Given the description of an element on the screen output the (x, y) to click on. 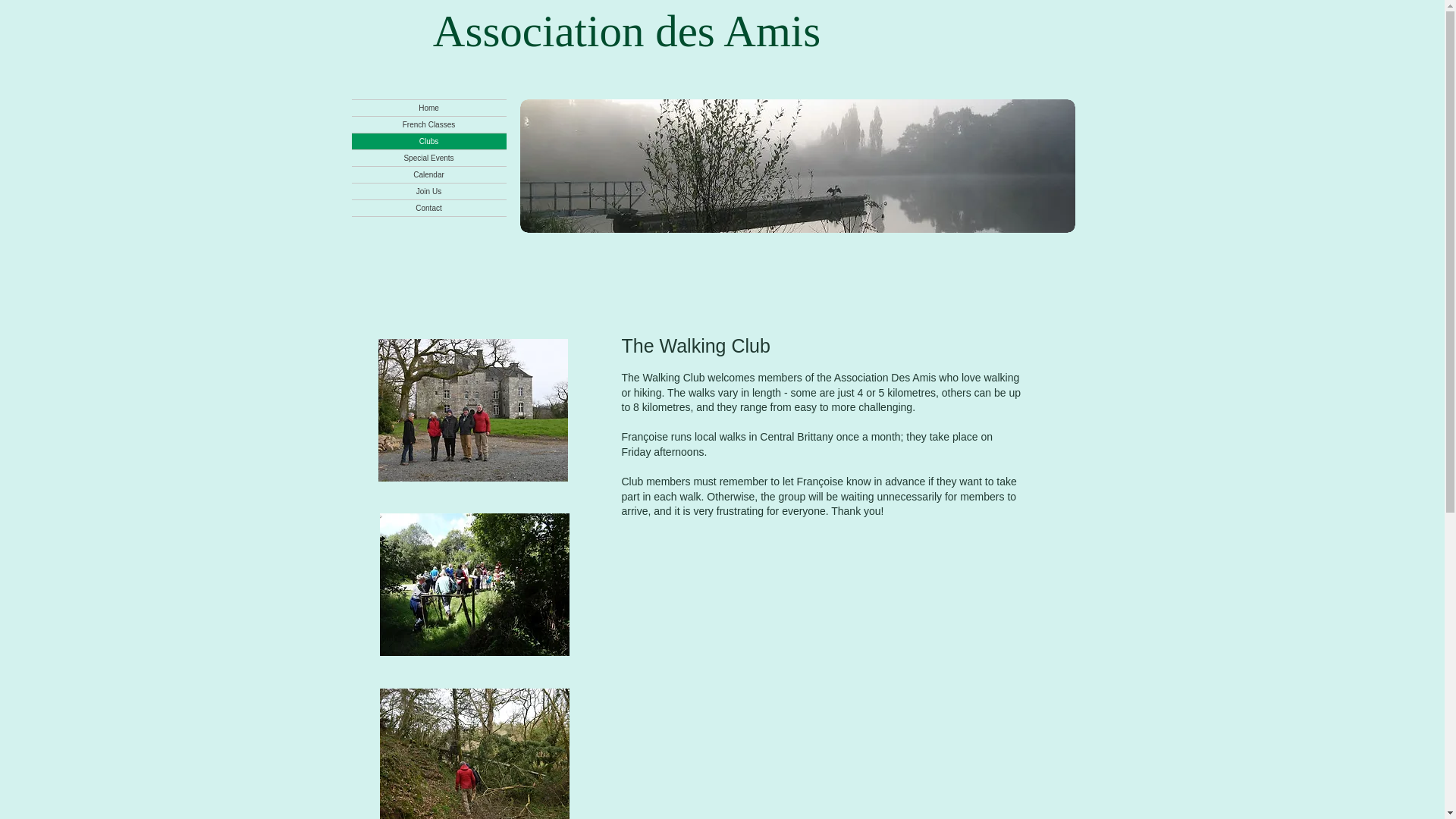
Clubs (429, 141)
Association des Amis (626, 30)
Home (429, 107)
Calendar (429, 174)
Join Us (429, 191)
French Classes (429, 124)
Special Events (429, 157)
Contact (429, 207)
